Given the description of an element on the screen output the (x, y) to click on. 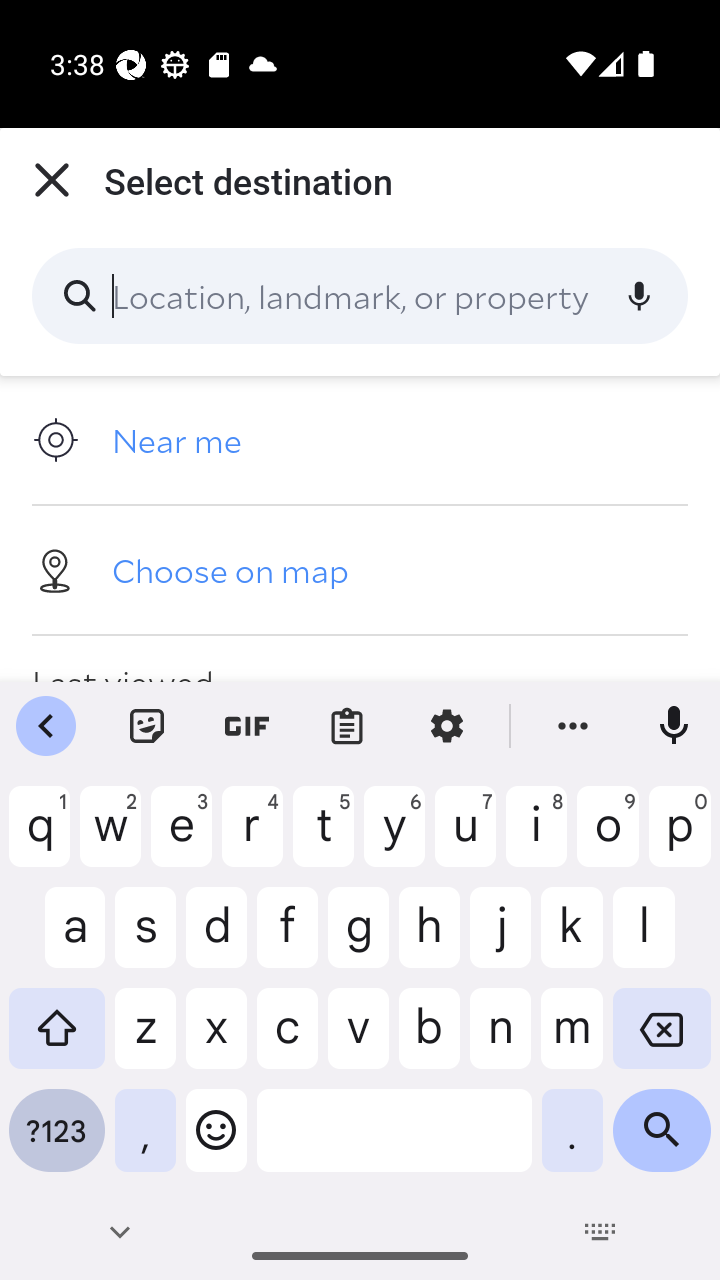
Location, landmark, or property (359, 296)
Near me (360, 440)
Choose on map (360, 569)
